Given the description of an element on the screen output the (x, y) to click on. 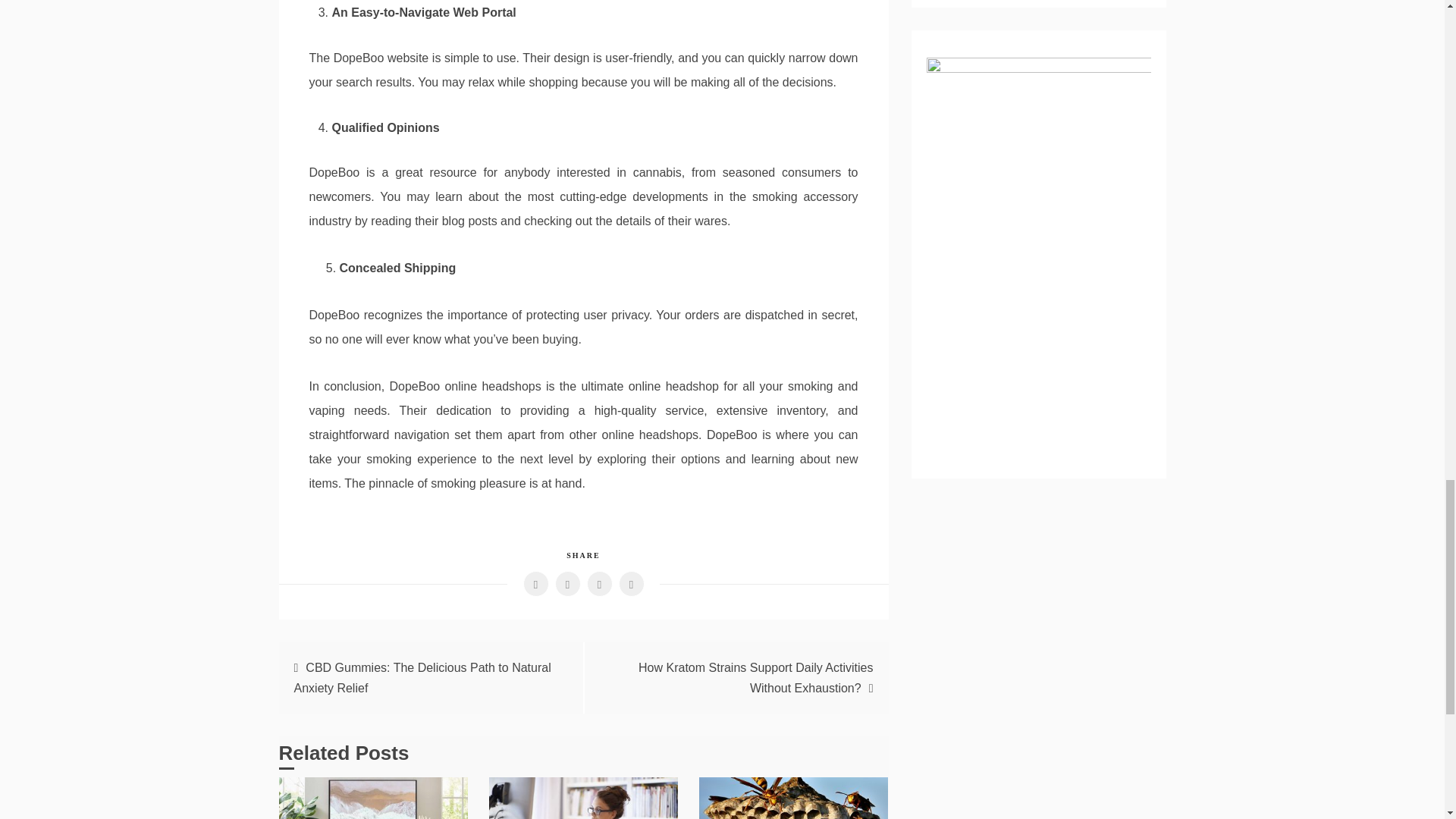
CBD Gummies: The Delicious Path to Natural Anxiety Relief (422, 677)
